Given the description of an element on the screen output the (x, y) to click on. 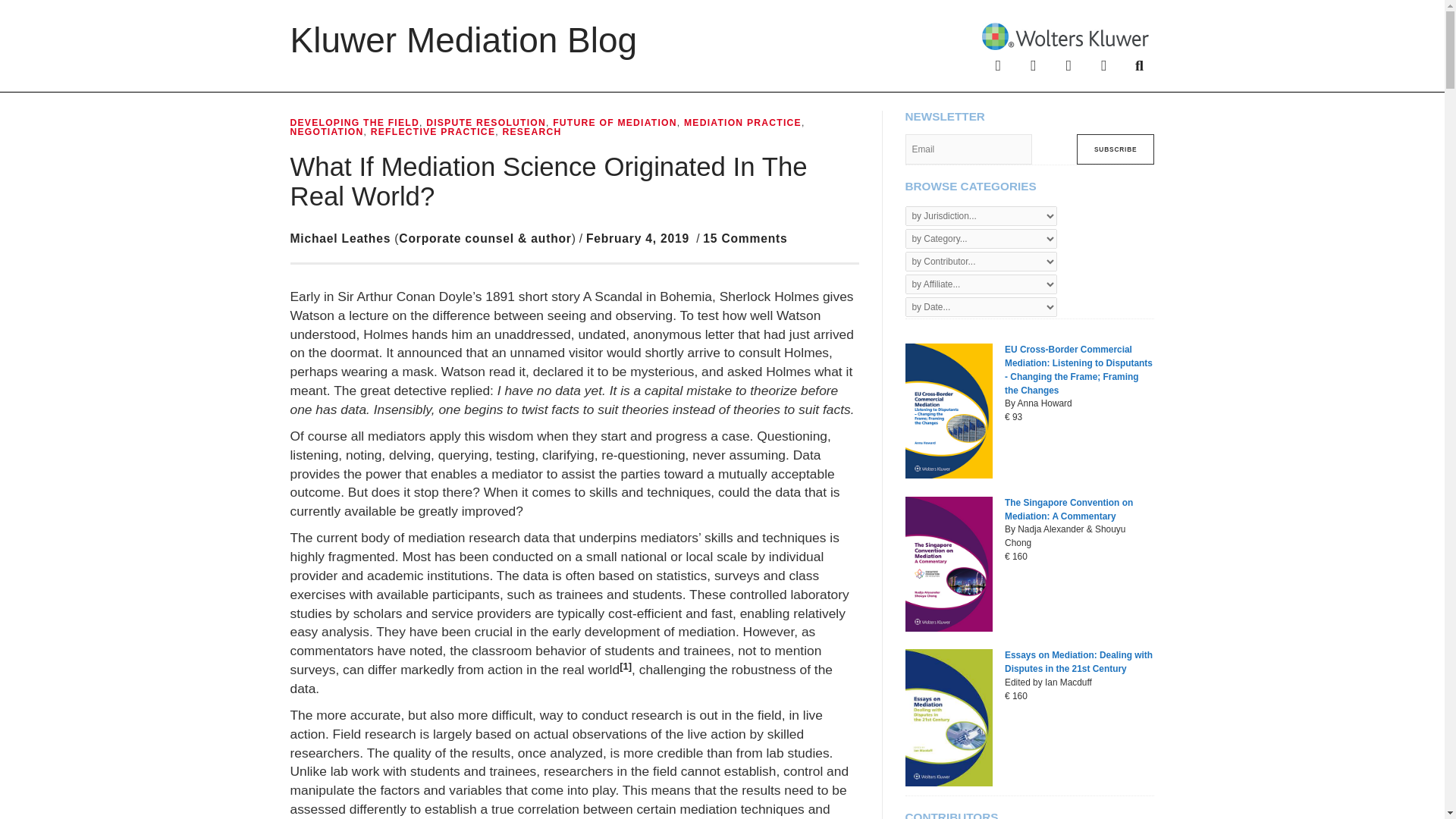
LinkedIn (1067, 64)
February 4, 2019 (637, 237)
Subscribe (1115, 149)
DEVELOPING THE FIELD (354, 122)
YouTube (1104, 64)
What If Mediation Science Originated In The Real World? (547, 180)
Michael Leathes (339, 237)
Facebook (997, 64)
REFLECTIVE PRACTICE (433, 131)
Wolters Kluwer Home (1064, 34)
Kluwer Mediation Blog (463, 39)
NEGOTIATION (325, 131)
RESEARCH (531, 131)
15 Comments (745, 237)
X (1032, 64)
